Given the description of an element on the screen output the (x, y) to click on. 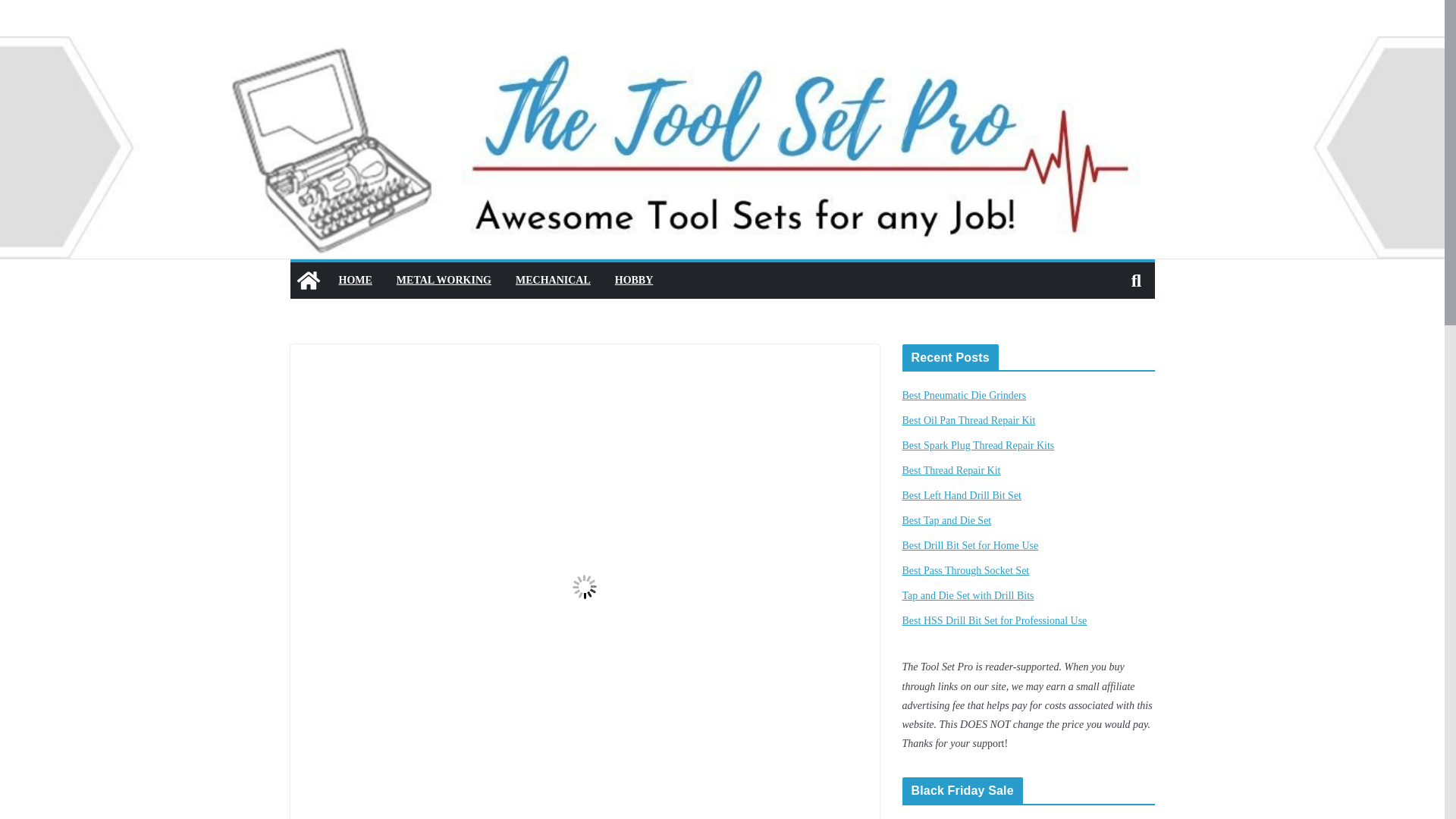
Best Pass Through Socket Set (965, 570)
Best HSS Drill Bit Set for Professional Use (994, 620)
Best Thread Repair Kit (951, 470)
Best Tap and Die Set (946, 520)
Best Left Hand Drill Bit Set (962, 495)
HOBBY (633, 280)
Best Spark Plug Thread Repair Kits (978, 445)
Best Pneumatic Die Grinders (964, 395)
Best Oil Pan Thread Repair Kit (968, 419)
MECHANICAL (553, 280)
